Given the description of an element on the screen output the (x, y) to click on. 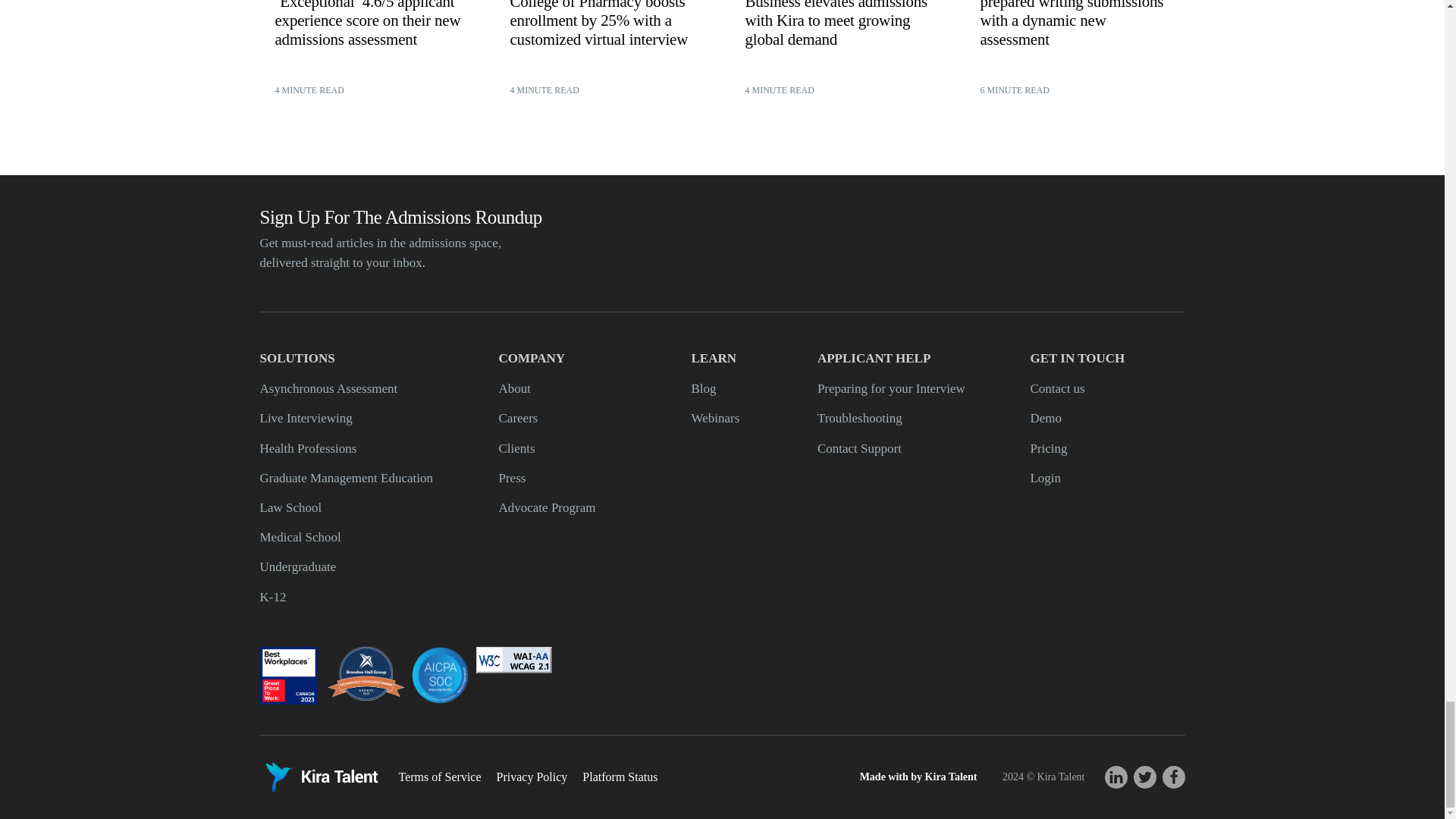
newsletter signup form (1007, 243)
